Given the description of an element on the screen output the (x, y) to click on. 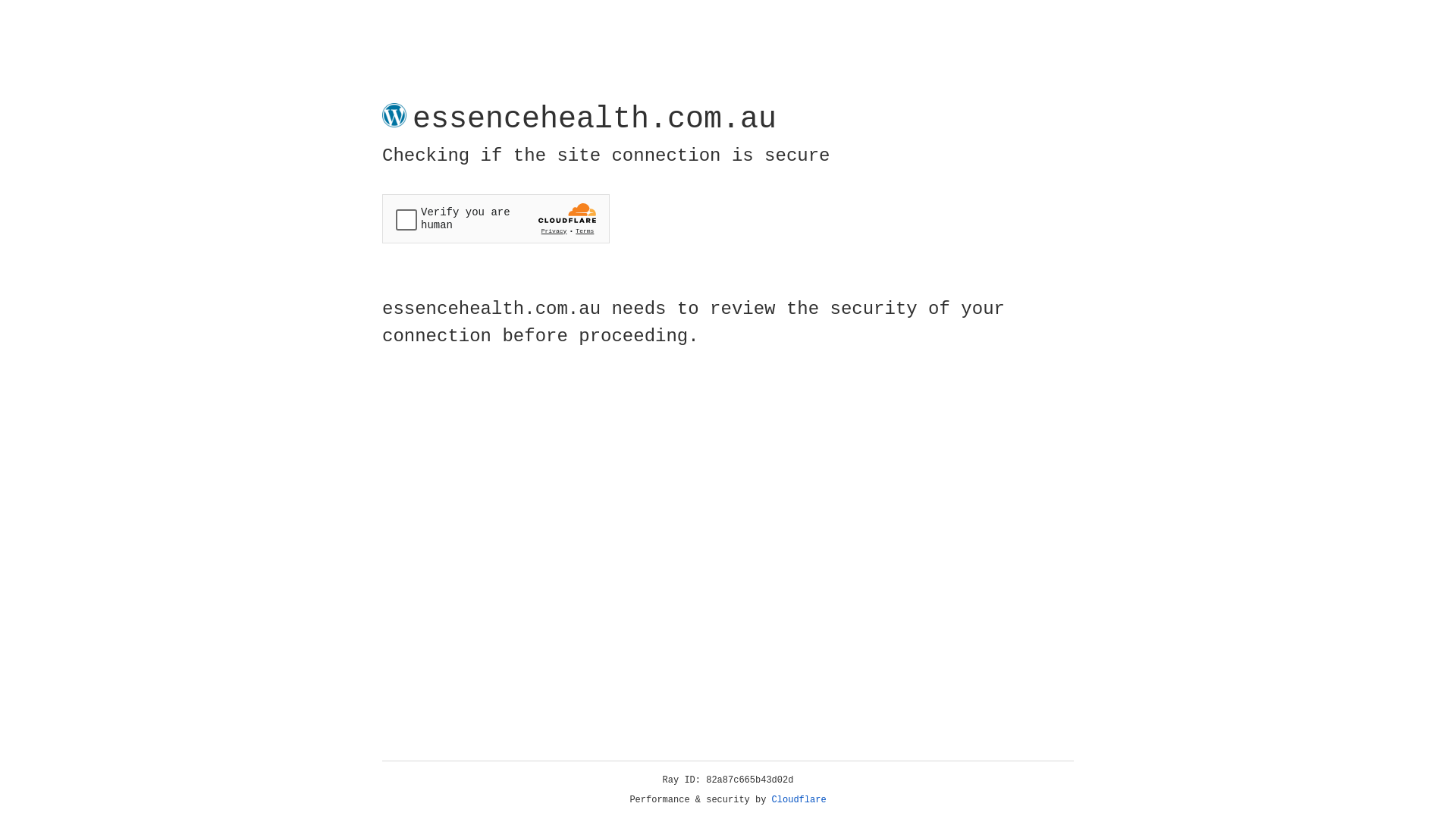
Widget containing a Cloudflare security challenge Element type: hover (495, 218)
Cloudflare Element type: text (798, 799)
